Given the description of an element on the screen output the (x, y) to click on. 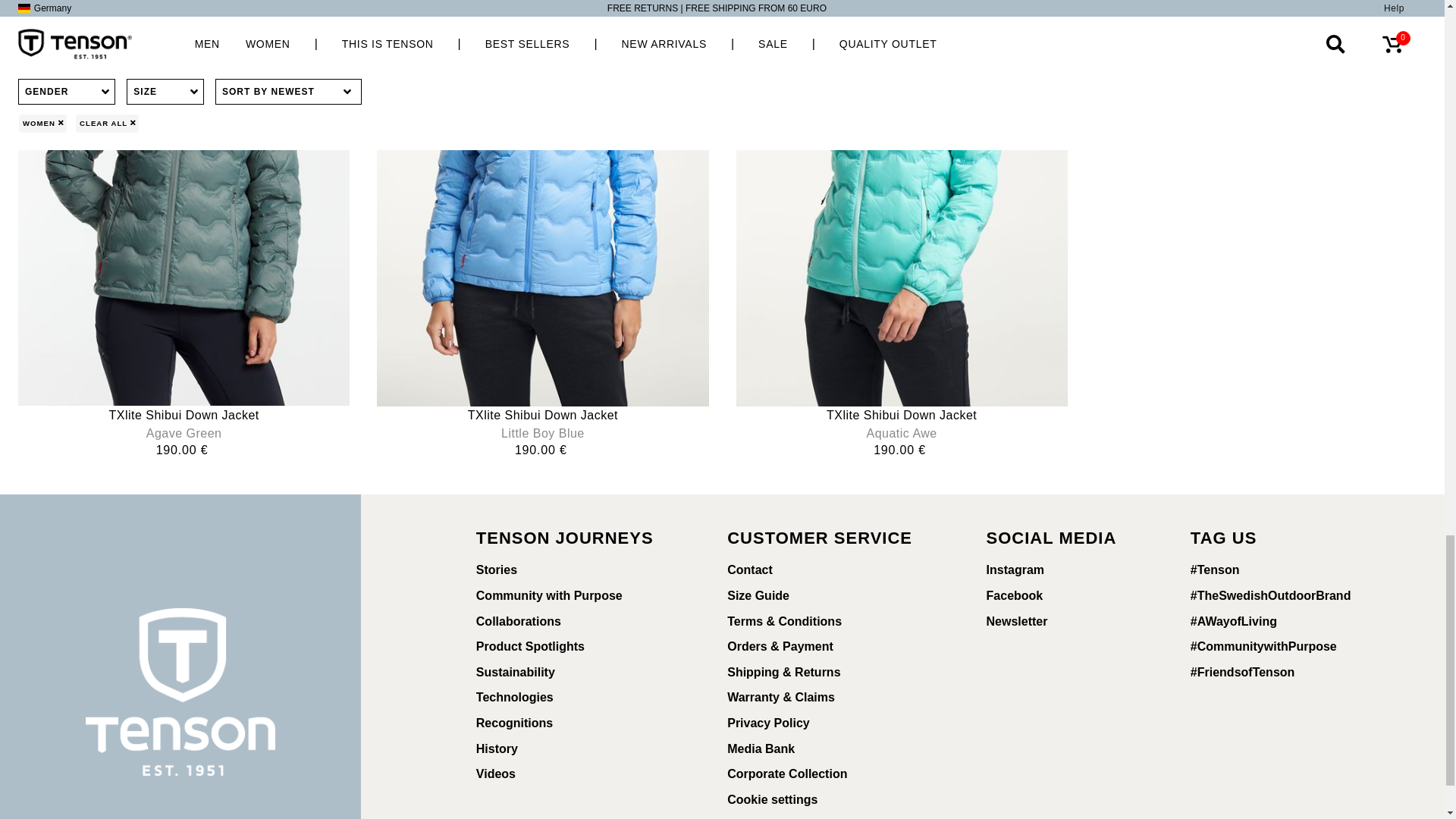
Instagram (1062, 570)
Community with Purpose (575, 596)
Newsletter (1062, 621)
Size Guide (830, 596)
Technologies (575, 698)
Contact (830, 570)
Videos (575, 774)
Facebook (1062, 596)
Terms and conditions (830, 621)
Product Spotlights (575, 646)
